Given the description of an element on the screen output the (x, y) to click on. 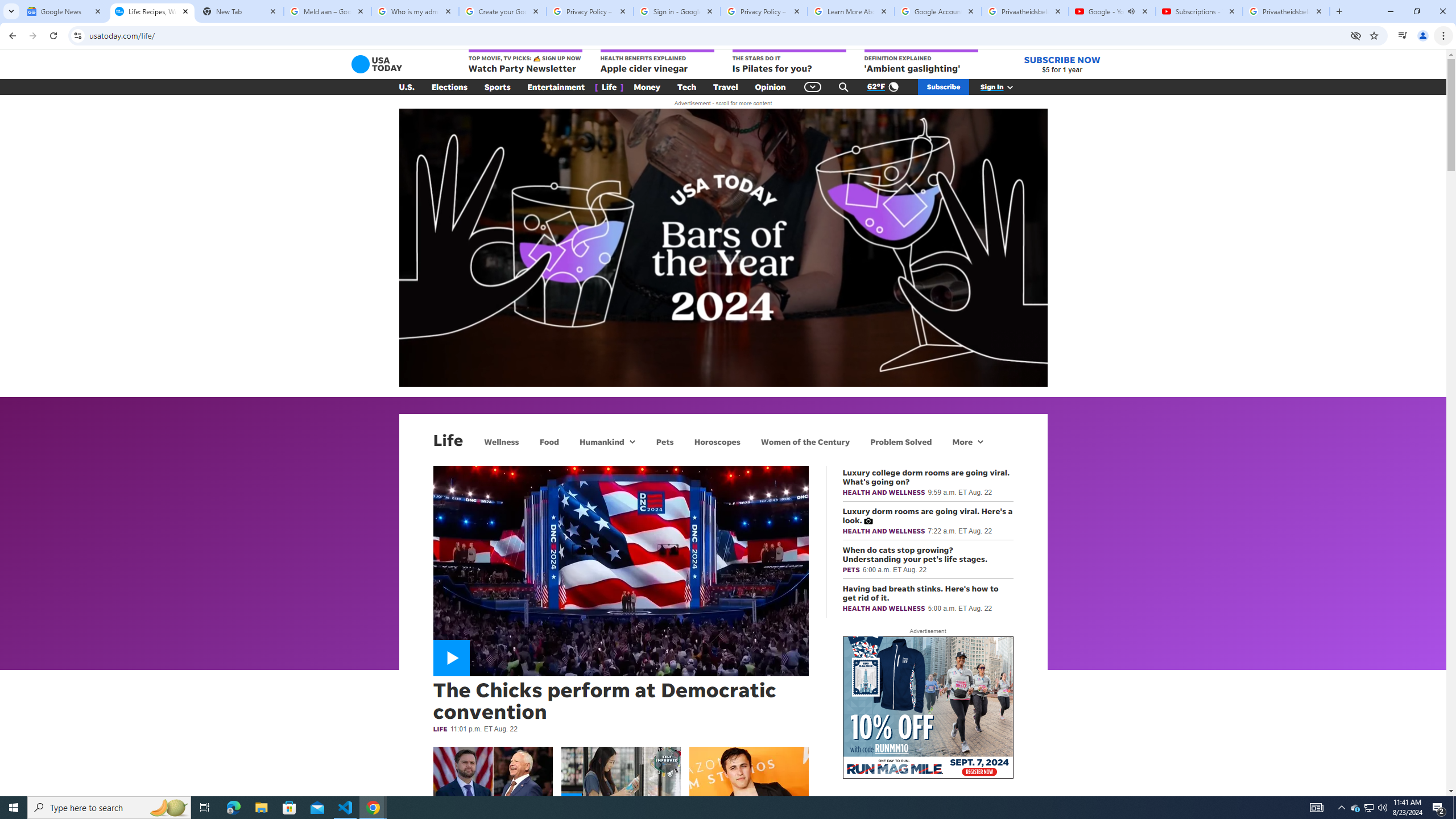
Subscribe (943, 87)
Global Navigation (812, 87)
Google Account (938, 11)
Women of the Century (805, 441)
Elections (449, 87)
Sports (497, 87)
More life navigation (968, 441)
